Given the description of an element on the screen output the (x, y) to click on. 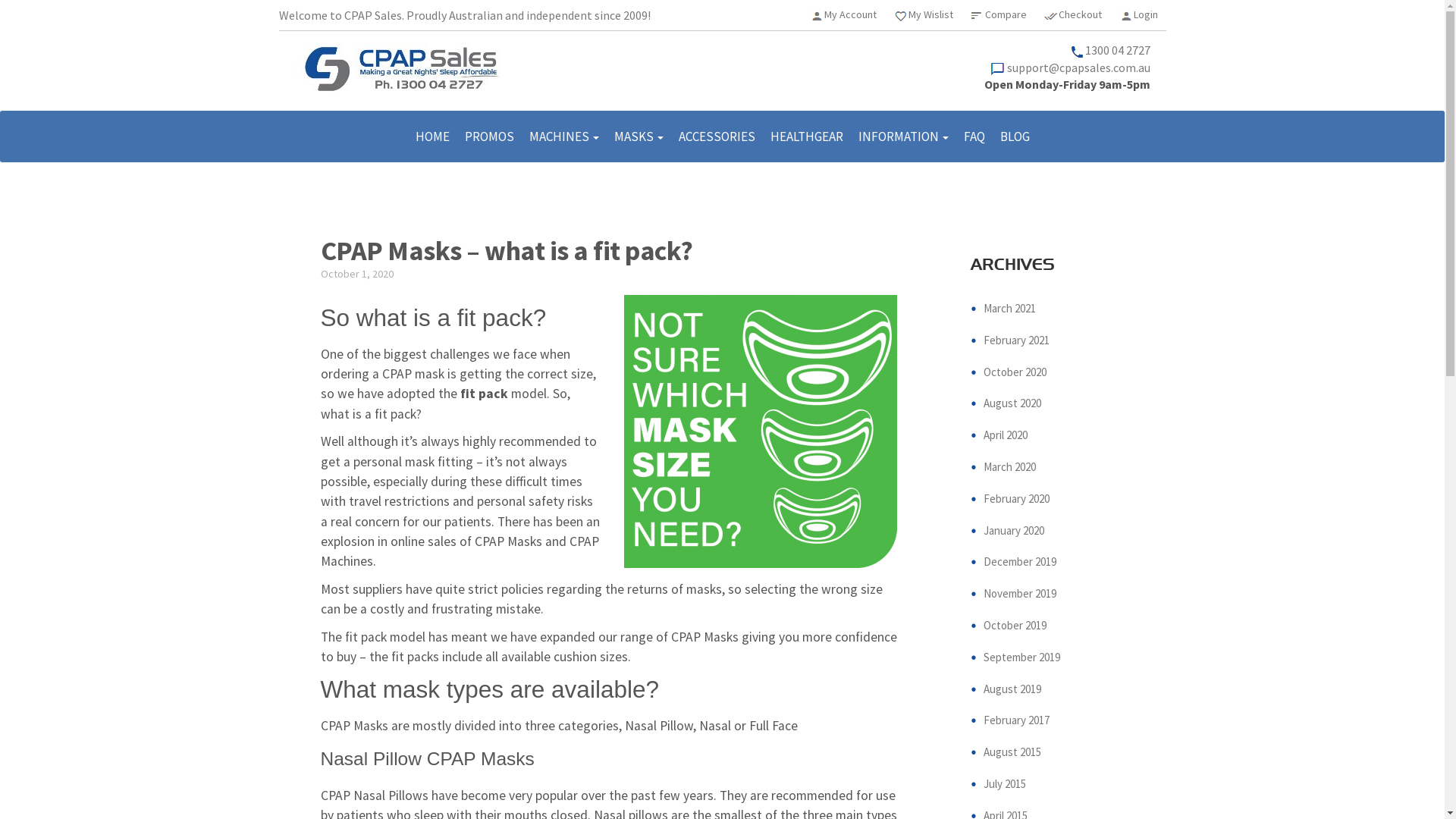
BLOG Element type: text (1013, 136)
ACCESSORIES Element type: text (716, 136)
Compare Element type: text (1005, 14)
FAQ Element type: text (973, 136)
March 2021 Element type: text (1009, 308)
PROMOS Element type: text (488, 136)
November 2019 Element type: text (1019, 593)
CPAP Sales Element type: hover (403, 67)
HEALTHGEAR Element type: text (806, 136)
August 2015 Element type: text (1012, 751)
support@cpapsales.com.au Element type: text (1078, 67)
December 2019 Element type: text (1019, 561)
July 2015 Element type: text (1004, 783)
HOME Element type: text (432, 136)
October 2019 Element type: text (1014, 625)
Login Element type: text (1144, 14)
October 2020 Element type: text (1014, 371)
February 2020 Element type: text (1016, 498)
MACHINES Element type: text (563, 136)
Checkout Element type: text (1079, 14)
March 2020 Element type: text (1009, 466)
February 2021 Element type: text (1016, 339)
August 2020 Element type: text (1012, 402)
April 2020 Element type: text (1005, 434)
September 2019 Element type: text (1021, 656)
MASKS Element type: text (638, 136)
My Account Element type: text (849, 14)
August 2019 Element type: text (1012, 688)
INFORMATION Element type: text (903, 136)
1300 04 2727 Element type: text (1117, 49)
My Wislist Element type: text (930, 14)
January 2020 Element type: text (1013, 530)
February 2017 Element type: text (1016, 719)
